Given the description of an element on the screen output the (x, y) to click on. 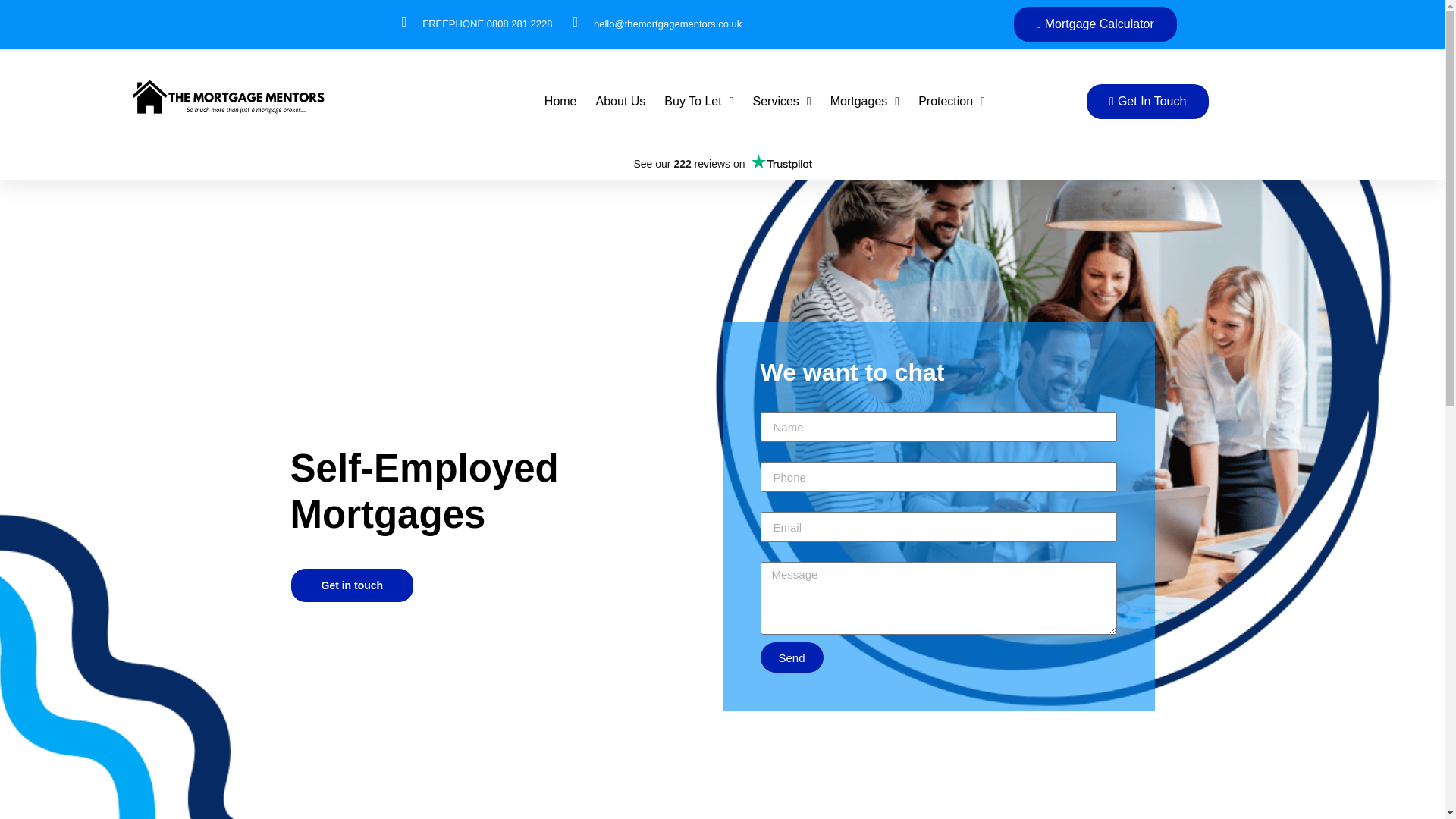
Protection (951, 101)
Buy To Let (698, 101)
FREEPHONE 0808 281 2228 (477, 24)
About Us (620, 101)
Home (560, 101)
Customer reviews powered by Trustpilot (721, 163)
Mortgages (864, 101)
Mortgage Calculator (1094, 23)
Services (781, 101)
